Given the description of an element on the screen output the (x, y) to click on. 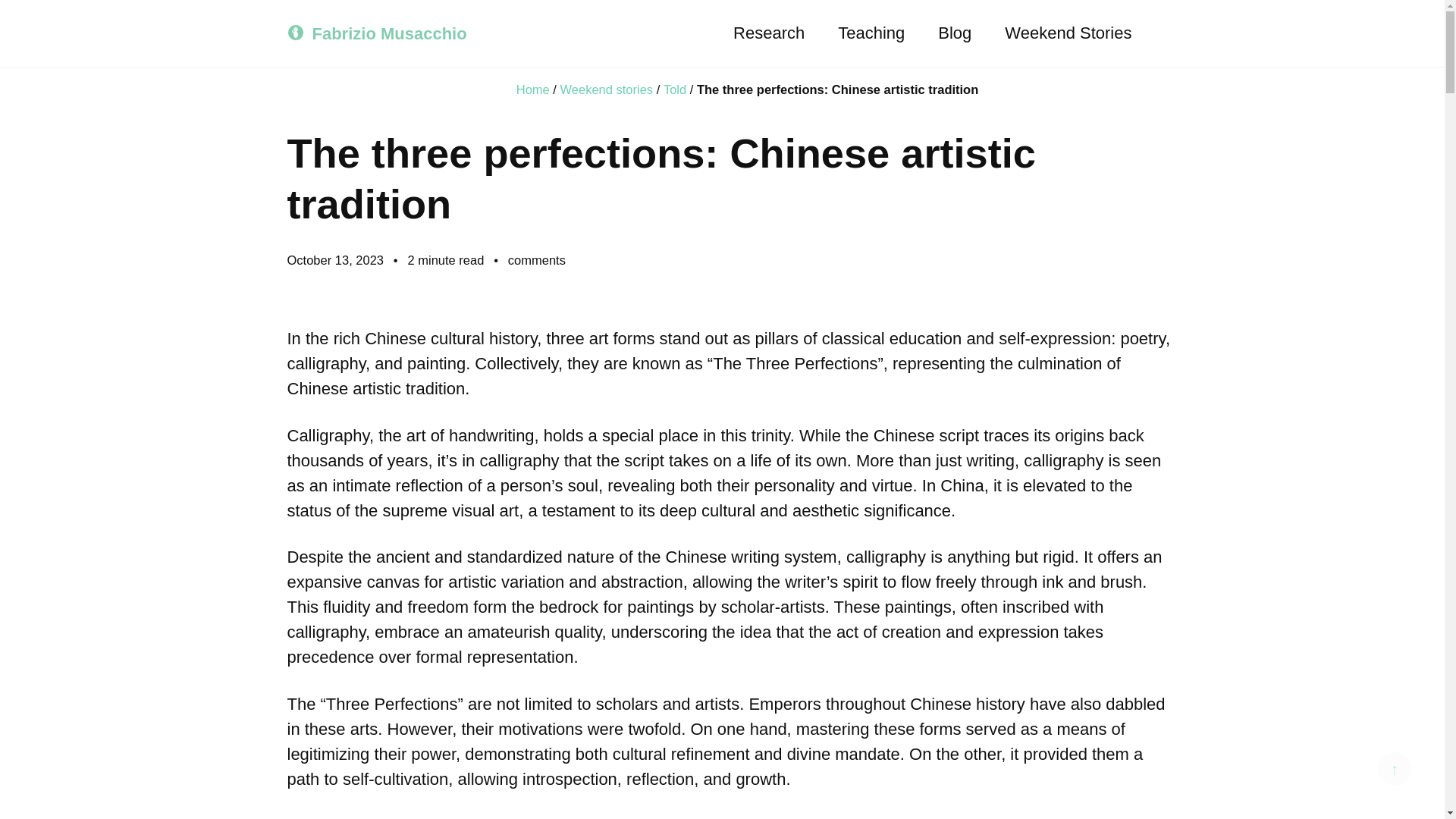
created (336, 259)
Fabrizio Musacchio (390, 33)
based on 150 words per minute (446, 259)
Weekend Stories (1067, 33)
Weekend stories (606, 88)
Research (769, 33)
Home (533, 88)
Teaching (871, 33)
Told (674, 88)
comments (537, 259)
Blog (954, 33)
jump to comments (537, 259)
